Given the description of an element on the screen output the (x, y) to click on. 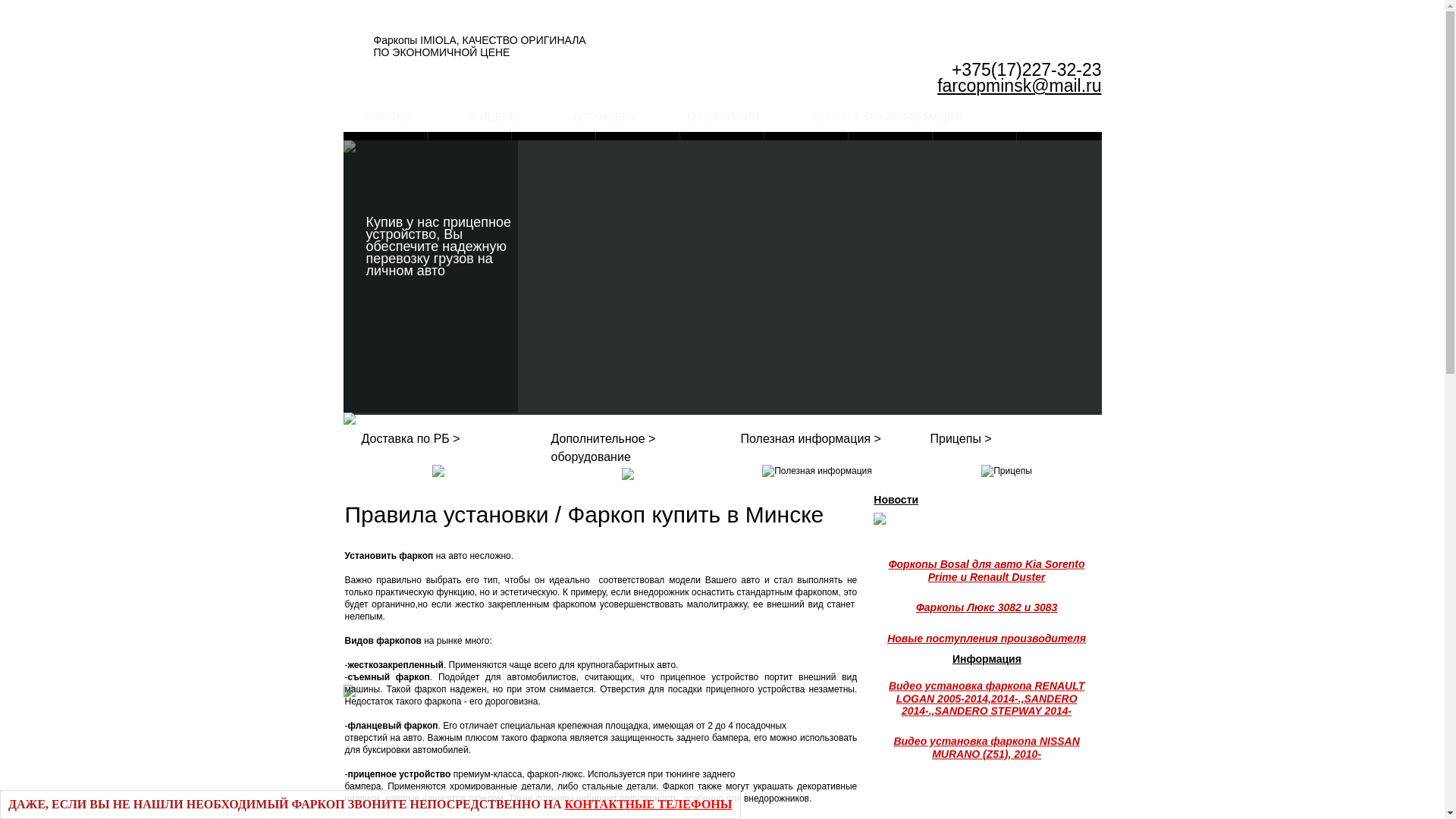
BMW Element type: text (469, 147)
CHRYSLER Element type: text (638, 147)
FIAT Element type: text (1058, 147)
DAEWOO Element type: text (889, 147)
CITROEN Element type: text (721, 147)
AUDI Element type: text (384, 147)
DACIA Element type: text (806, 147)
DODGE Element type: text (974, 147)
CHEVROLET Element type: text (553, 147)
